Given the description of an element on the screen output the (x, y) to click on. 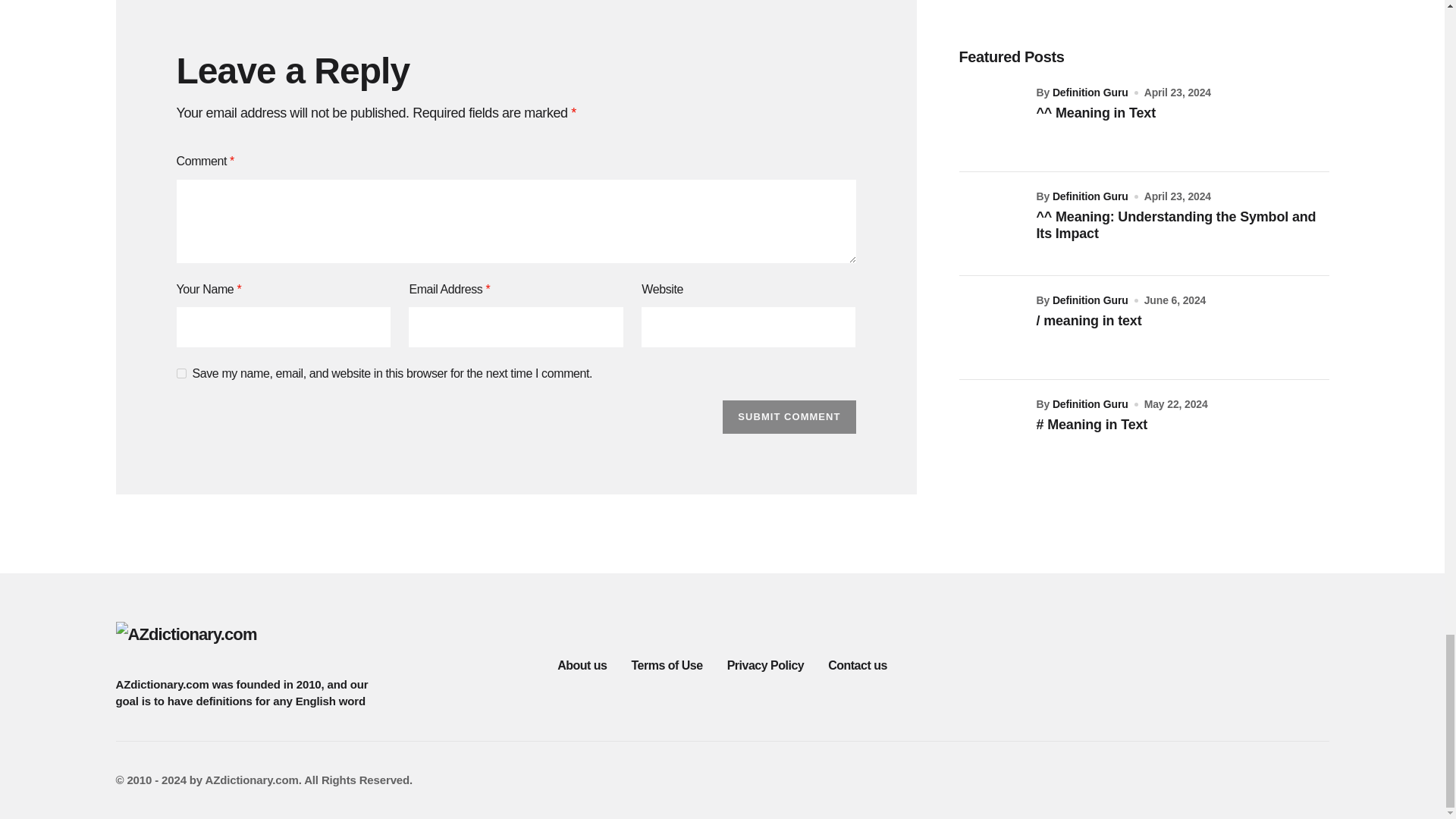
yes (181, 373)
SUBMIT COMMENT (789, 417)
